Given the description of an element on the screen output the (x, y) to click on. 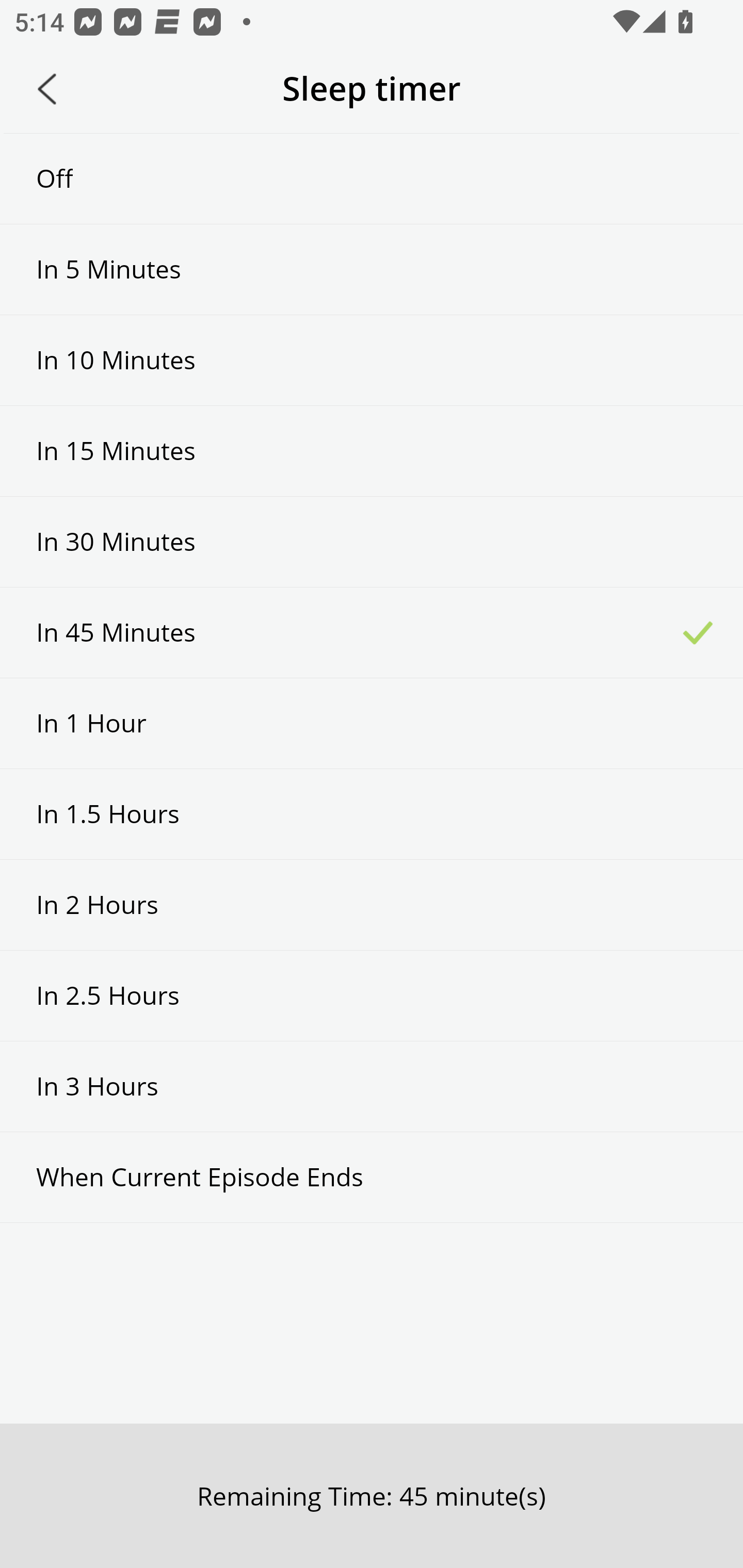
Back (46, 88)
Off (371, 178)
In 5 Minutes (371, 269)
In 10 Minutes (371, 360)
In 15 Minutes (371, 450)
In 30 Minutes (371, 541)
In 45 Minutes (371, 632)
In 1 Hour (371, 723)
In 1.5 Hours (371, 813)
In 2 Hours (371, 904)
In 2.5 Hours (371, 995)
In 3 Hours (371, 1086)
When Current Episode Ends (371, 1177)
